Given the description of an element on the screen output the (x, y) to click on. 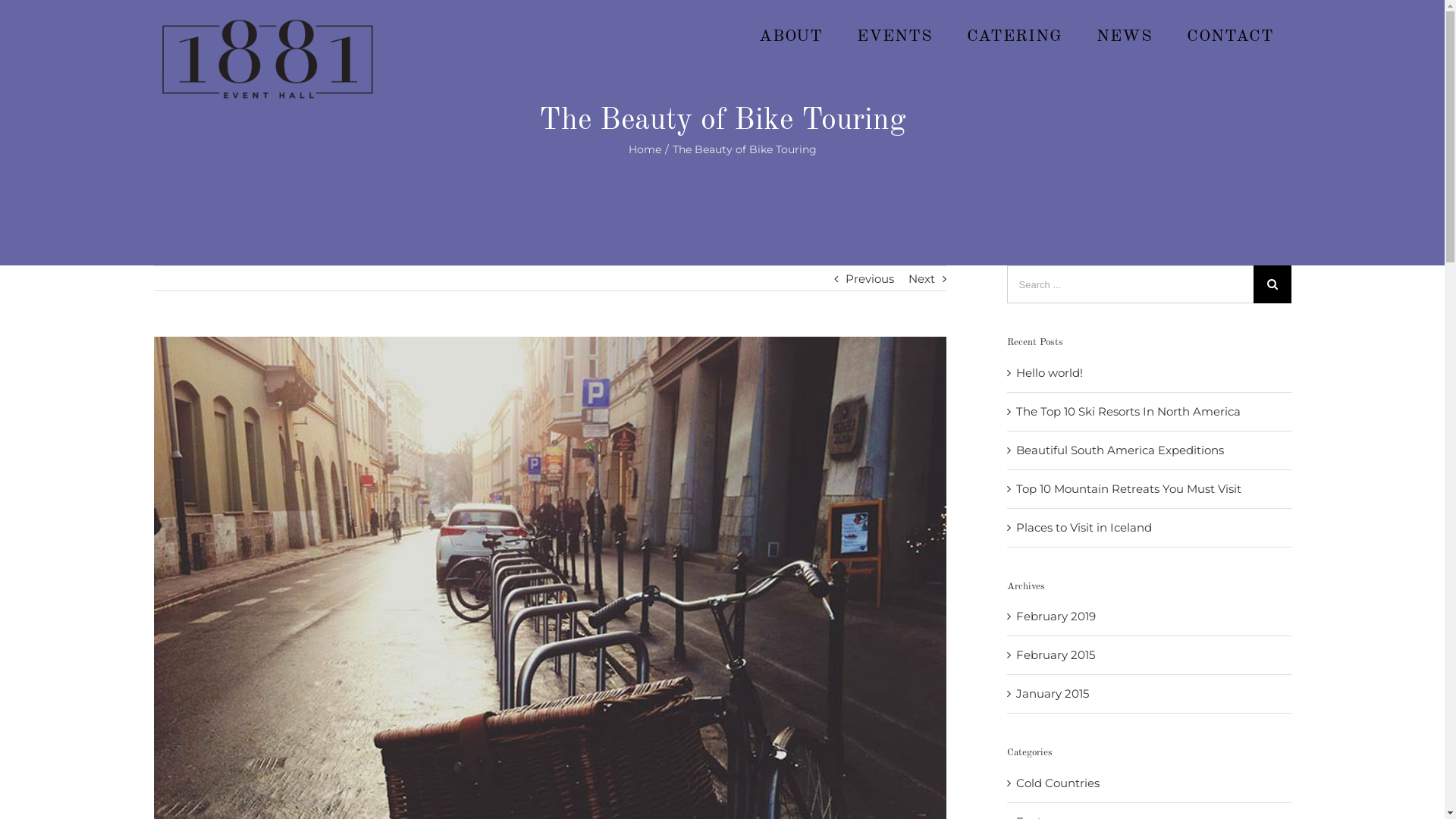
CONTACT Element type: text (1229, 36)
CATERING Element type: text (1014, 36)
Home Element type: text (643, 149)
February 2019 Element type: text (1055, 615)
Top 10 Mountain Retreats You Must Visit Element type: text (1128, 488)
Cold Countries Element type: text (1149, 782)
Previous Element type: text (868, 278)
NEWS Element type: text (1124, 36)
February 2015 Element type: text (1055, 654)
ABOUT Element type: text (790, 36)
EVENTS Element type: text (895, 36)
Places to Visit in Iceland Element type: text (1083, 527)
January 2015 Element type: text (1052, 693)
Hello world! Element type: text (1049, 372)
Next Element type: text (921, 278)
Beautiful South America Expeditions Element type: text (1119, 449)
The Top 10 Ski Resorts In North America Element type: text (1128, 411)
